Given the description of an element on the screen output the (x, y) to click on. 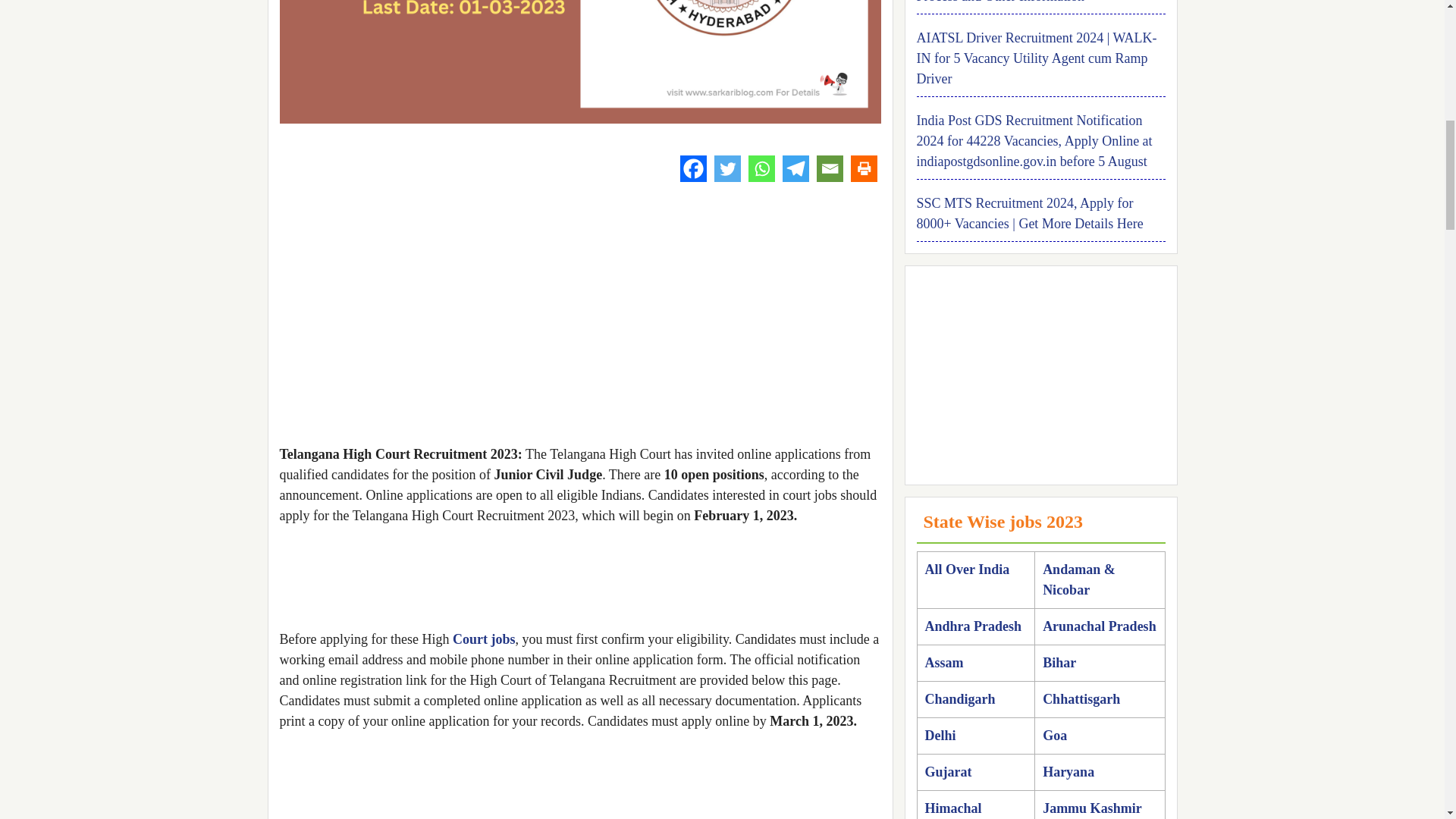
Print (863, 168)
Telegram (796, 168)
Twitter (727, 168)
Email (829, 168)
Court jobs (483, 639)
Telangana High Court Recruitment 2023 (579, 61)
Facebook (692, 168)
Whatsapp (761, 168)
